Given the description of an element on the screen output the (x, y) to click on. 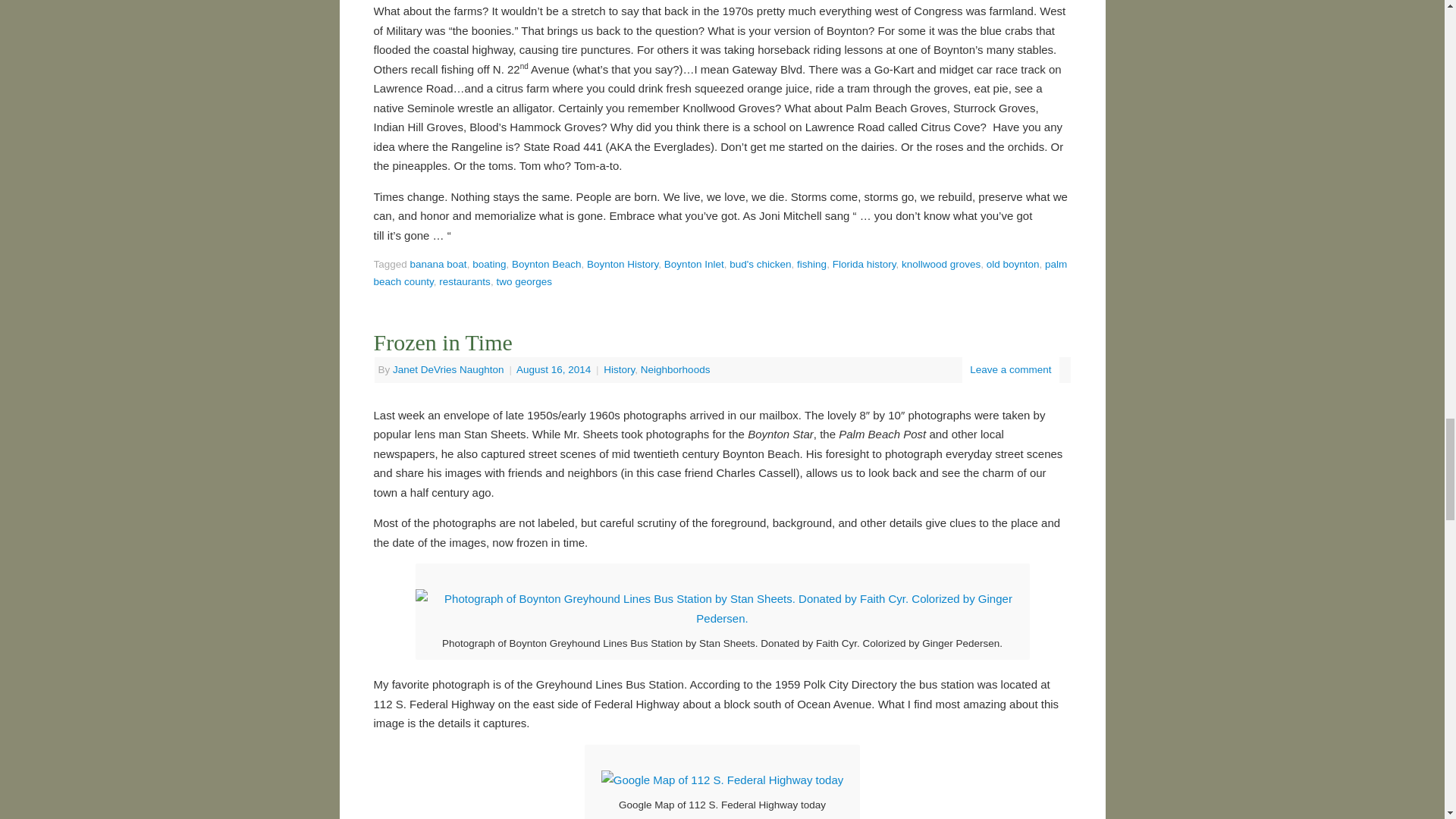
3:39 pm (555, 369)
Permalink to Frozen in Time (442, 342)
View all posts by Janet DeVries Naughton (448, 369)
